Given the description of an element on the screen output the (x, y) to click on. 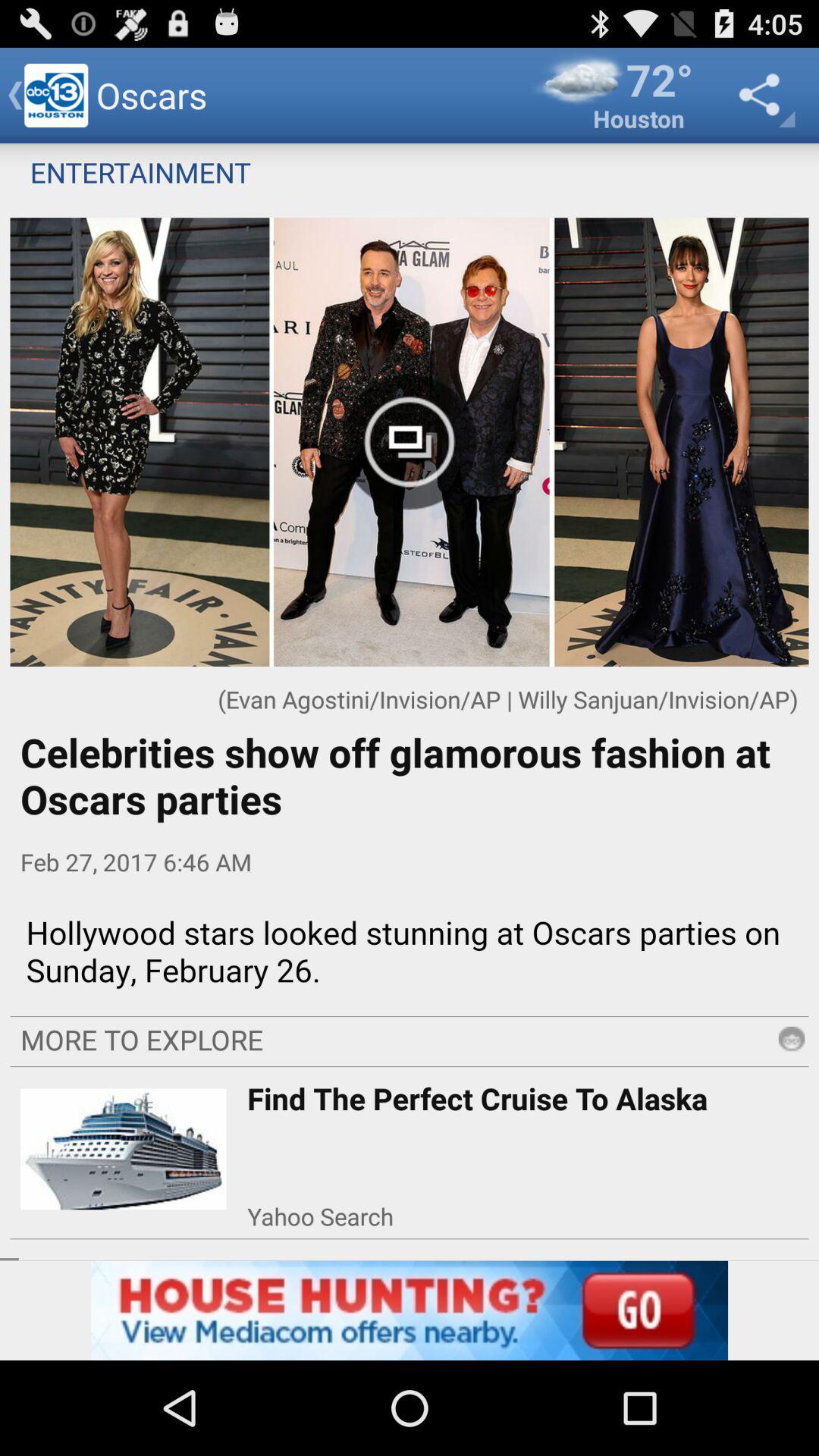
select the share icon on the top right side below the time (763, 95)
